Given the description of an element on the screen output the (x, y) to click on. 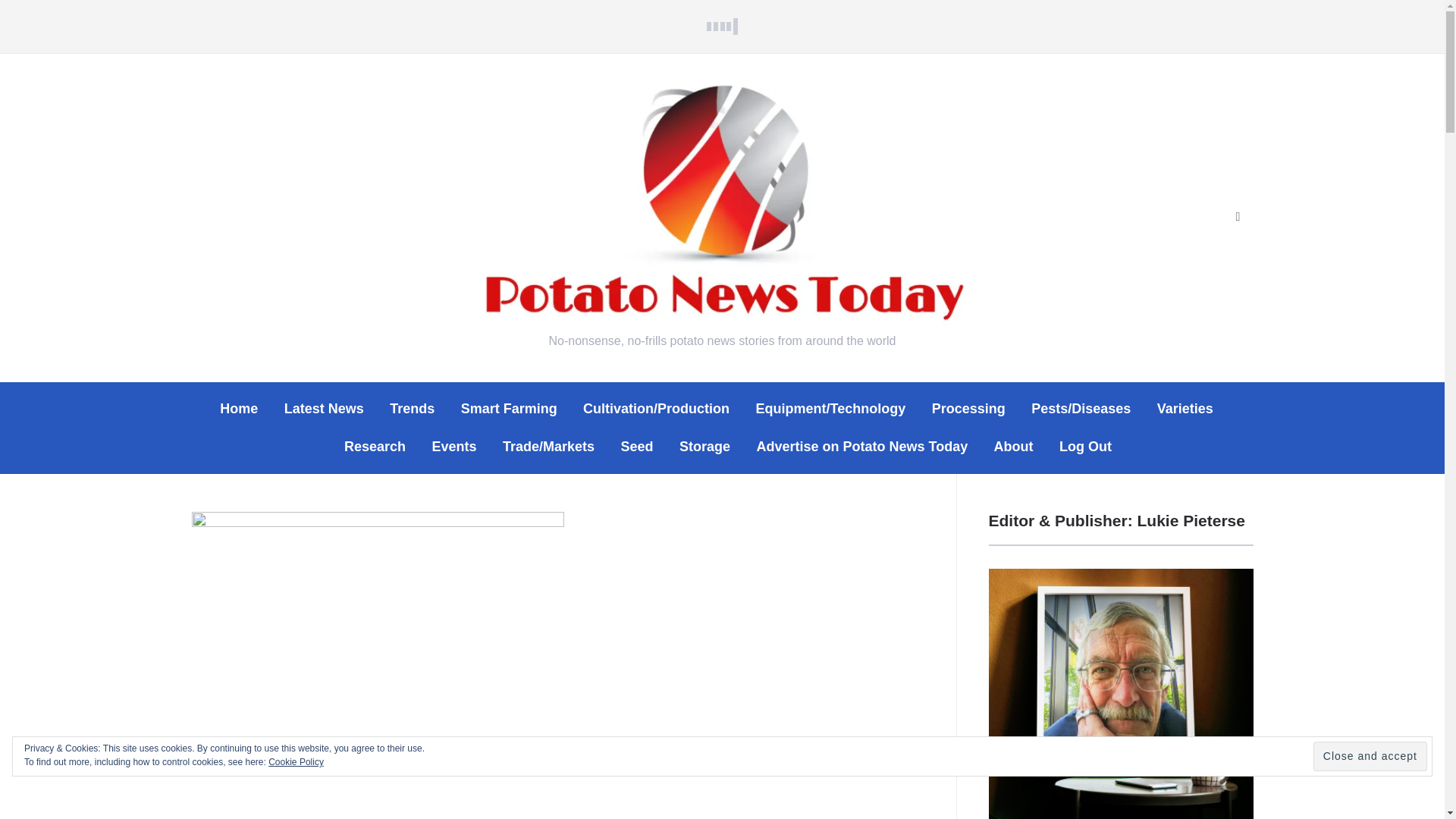
Latest News (323, 408)
Smart Farming (509, 408)
Home (238, 408)
Trends (411, 408)
Close and accept (1369, 756)
Search (1237, 217)
Processing (968, 408)
Varieties (1184, 408)
